Given the description of an element on the screen output the (x, y) to click on. 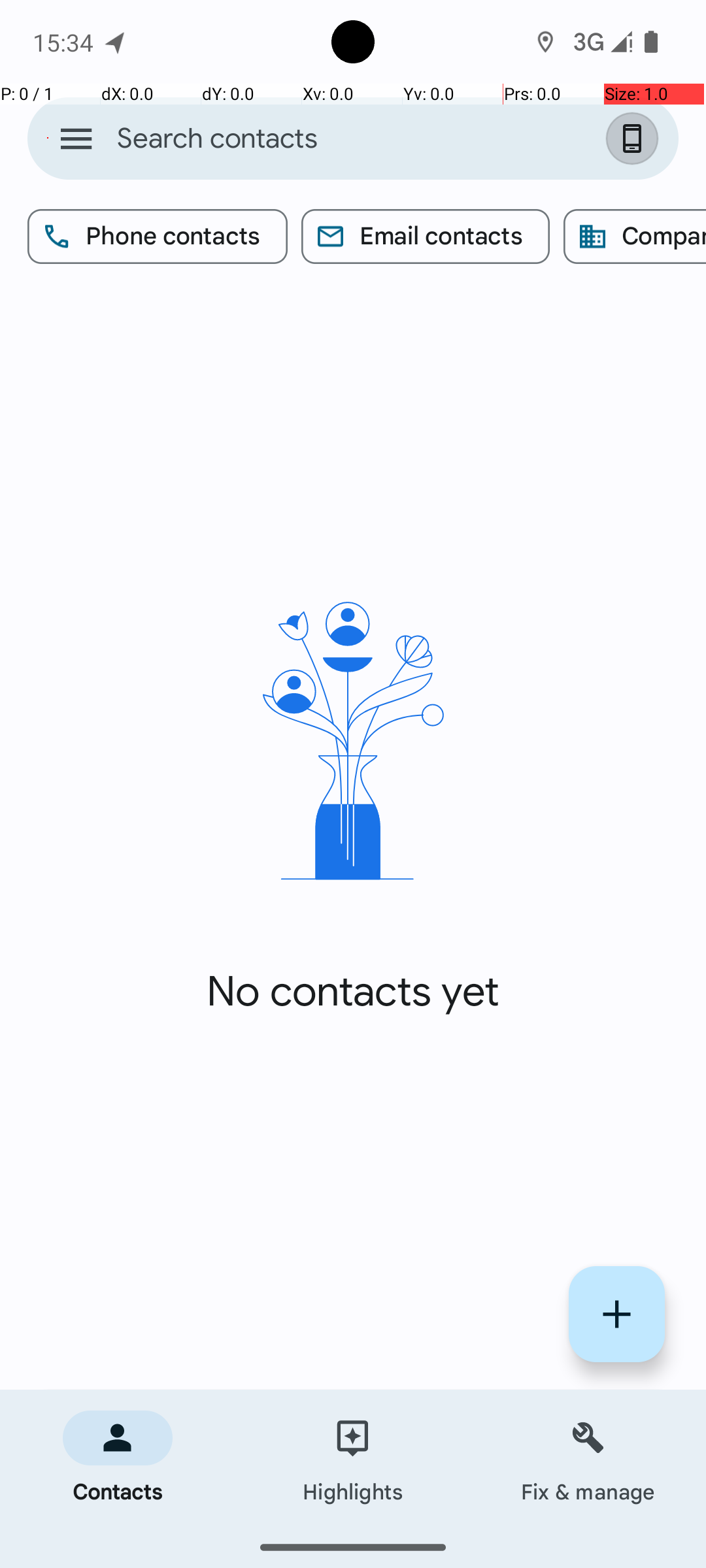
Contacts Element type: android.widget.FrameLayout (117, 1457)
Highlights Element type: android.widget.FrameLayout (352, 1457)
Fix & manage Element type: android.widget.FrameLayout (588, 1457)
Open navigation drawer Element type: android.widget.ImageButton (75, 138)
Signed in as Device
Account and settings. Element type: android.widget.FrameLayout (634, 138)
No contacts yet Element type: android.widget.TextView (353, 991)
Phone contacts Element type: android.widget.Button (157, 236)
Email contacts Element type: android.widget.Button (425, 236)
